Given the description of an element on the screen output the (x, y) to click on. 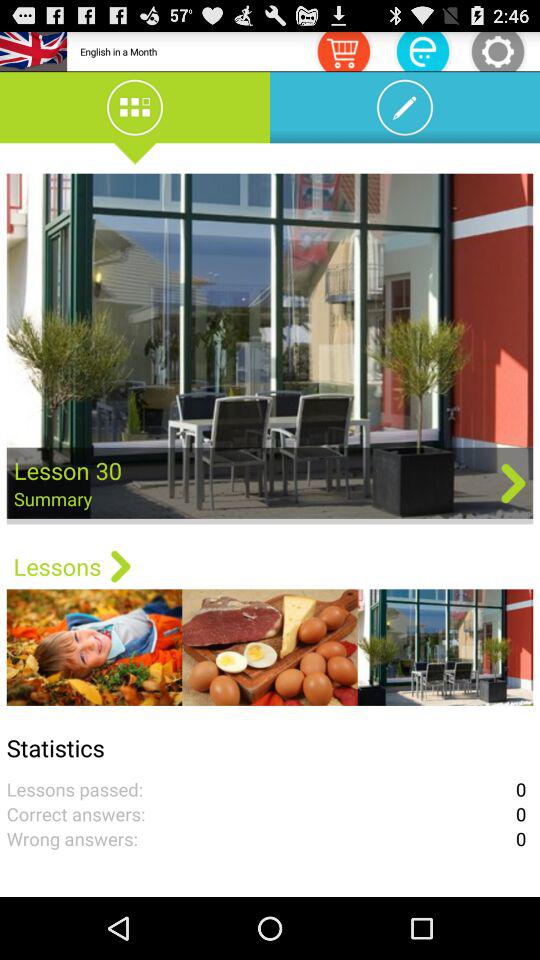
select app above the lessons app (269, 348)
